Given the description of an element on the screen output the (x, y) to click on. 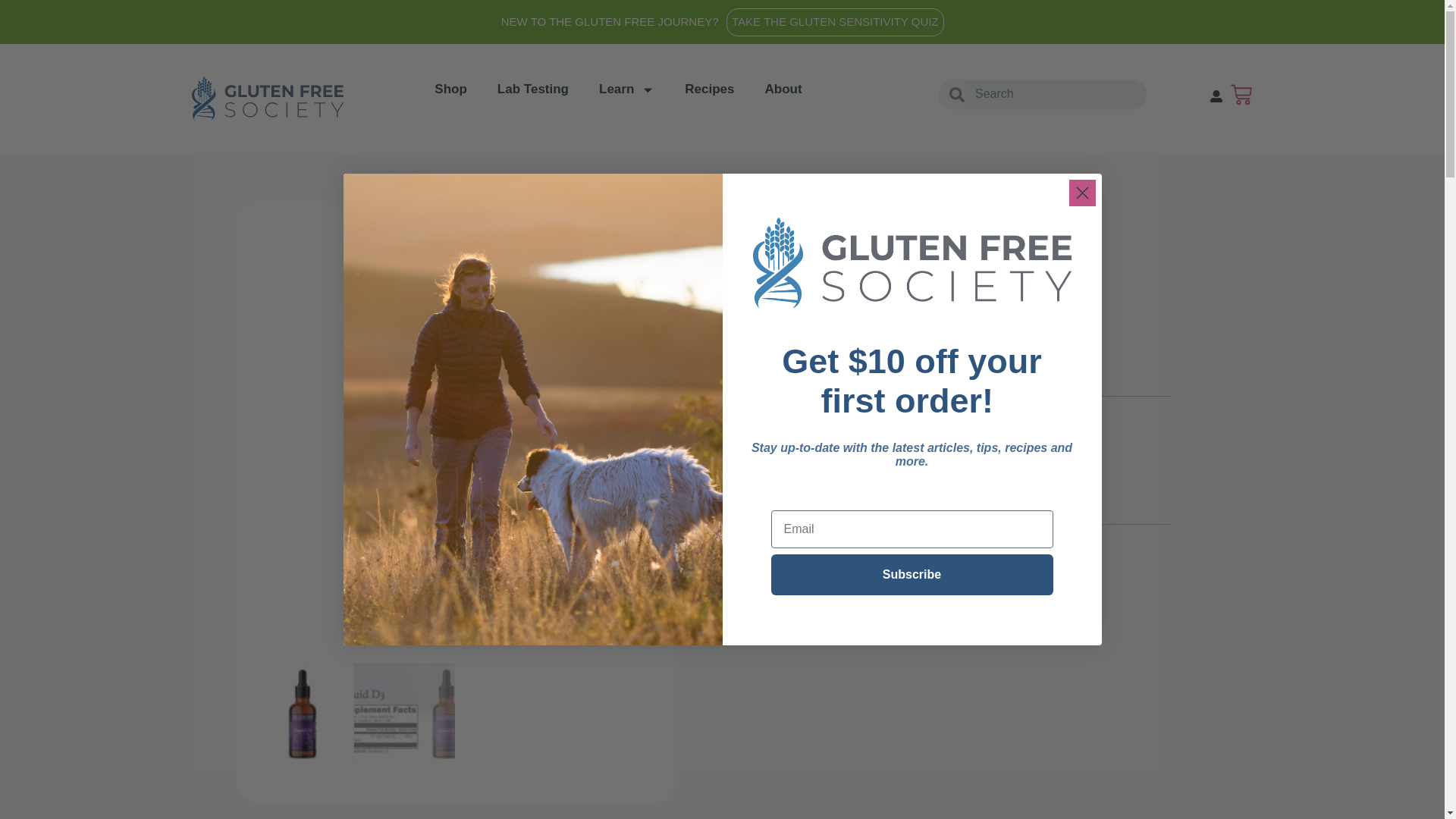
Learn (625, 89)
yes (744, 447)
no (744, 424)
TAKE THE GLUTEN SENSITIVITY QUIZ (834, 22)
Shop (450, 89)
Lab Testing (533, 89)
About (783, 89)
Close dialog 1 (1082, 192)
Recipes (708, 89)
1 (732, 490)
